Given the description of an element on the screen output the (x, y) to click on. 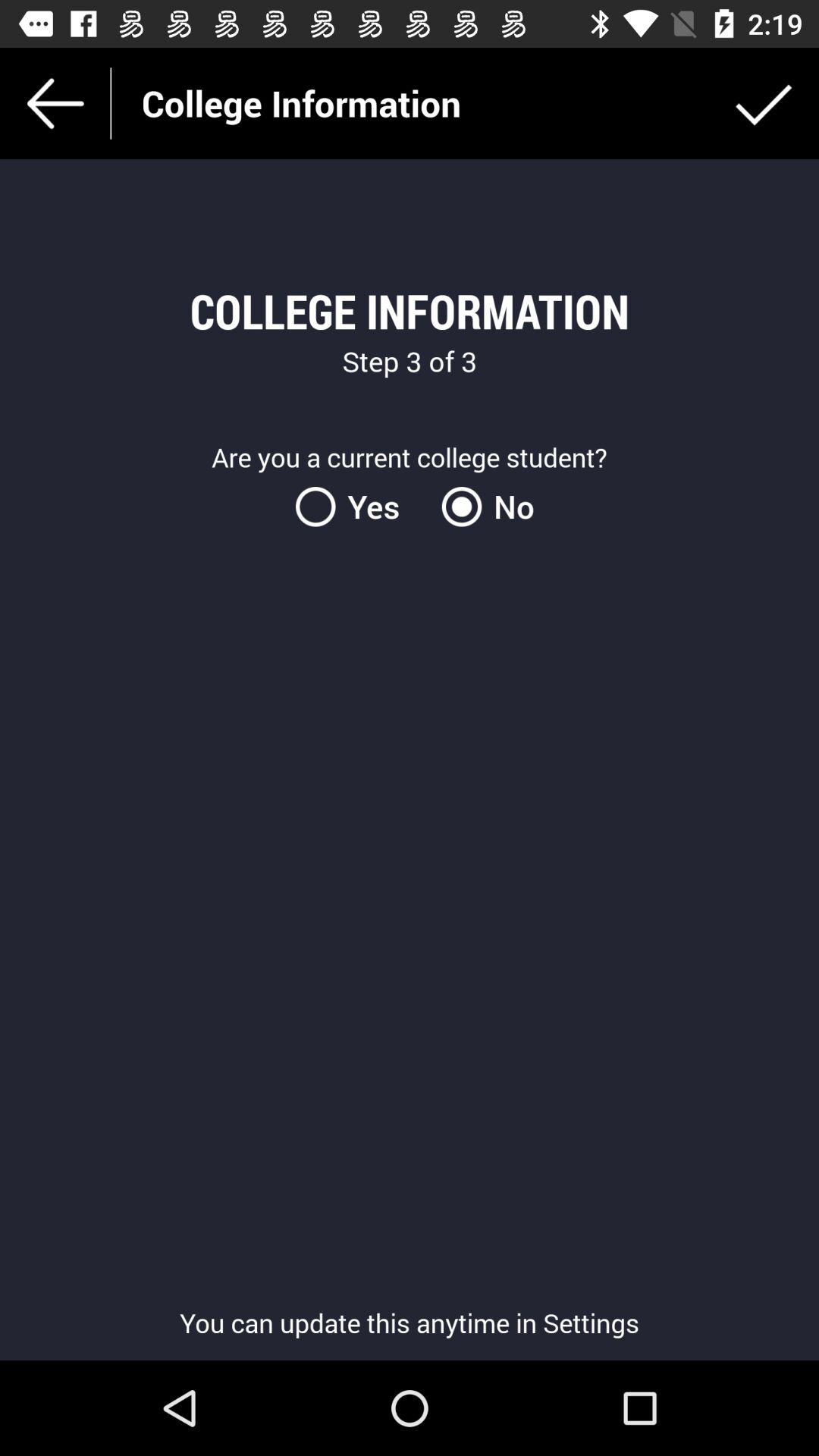
press no icon (481, 506)
